Given the description of an element on the screen output the (x, y) to click on. 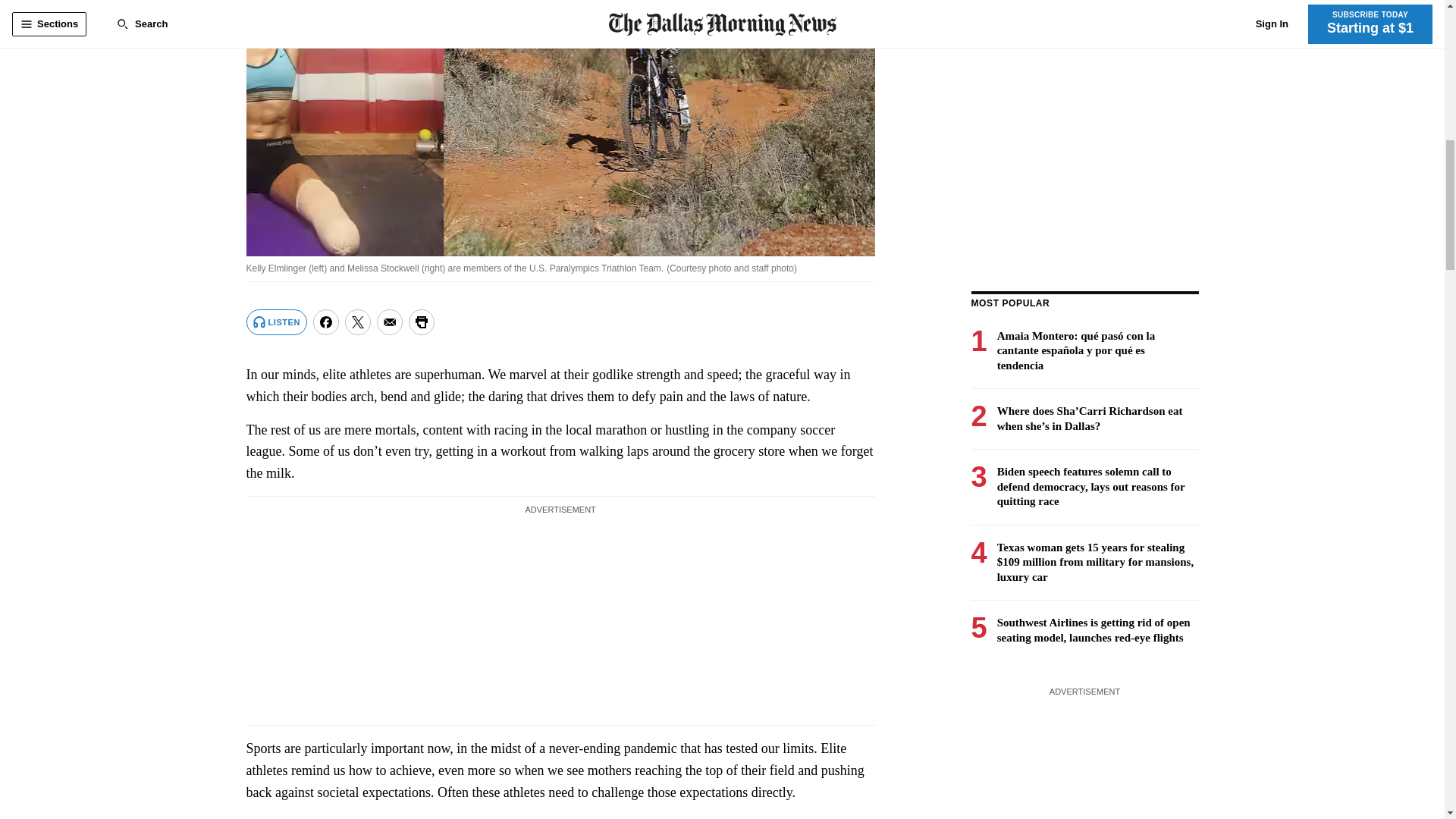
Share via Email (390, 321)
Share on Twitter (358, 321)
Share on Facebook (326, 321)
Print (421, 321)
